Given the description of an element on the screen output the (x, y) to click on. 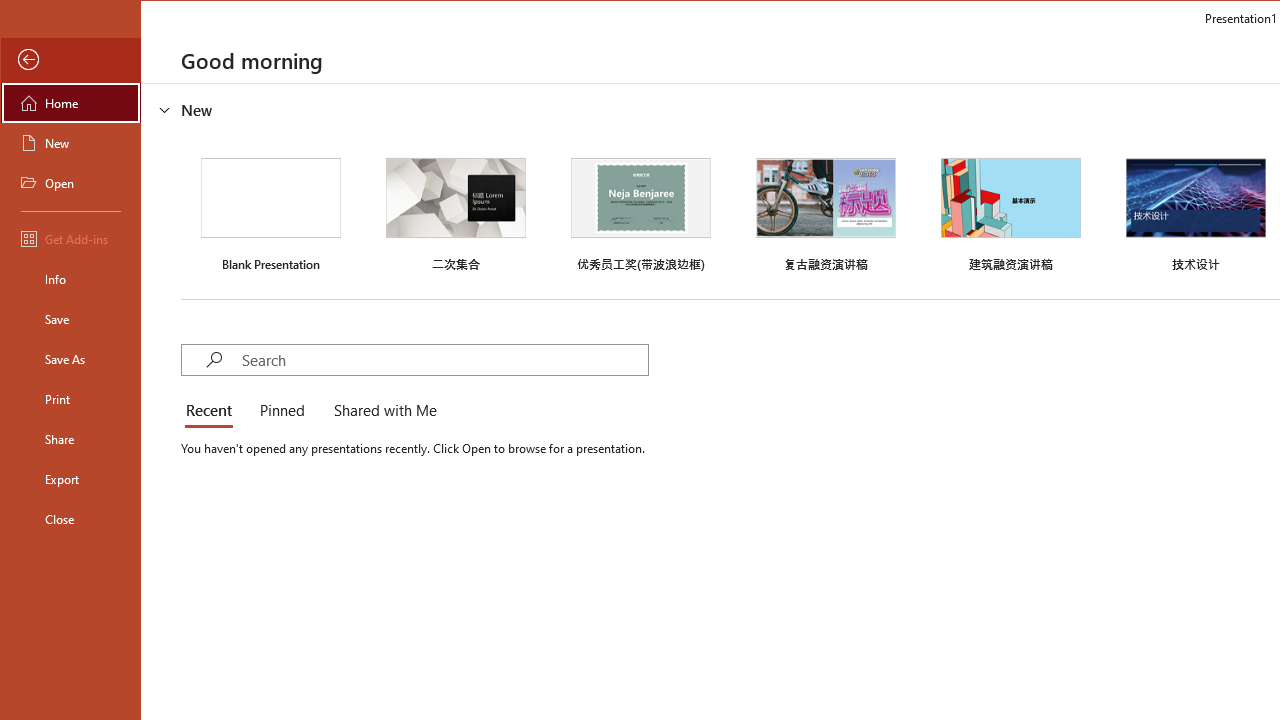
Hide or show region (164, 109)
Recent (212, 411)
Save As (70, 358)
Print (70, 398)
Blank Presentation (270, 212)
Info (70, 278)
